Given the description of an element on the screen output the (x, y) to click on. 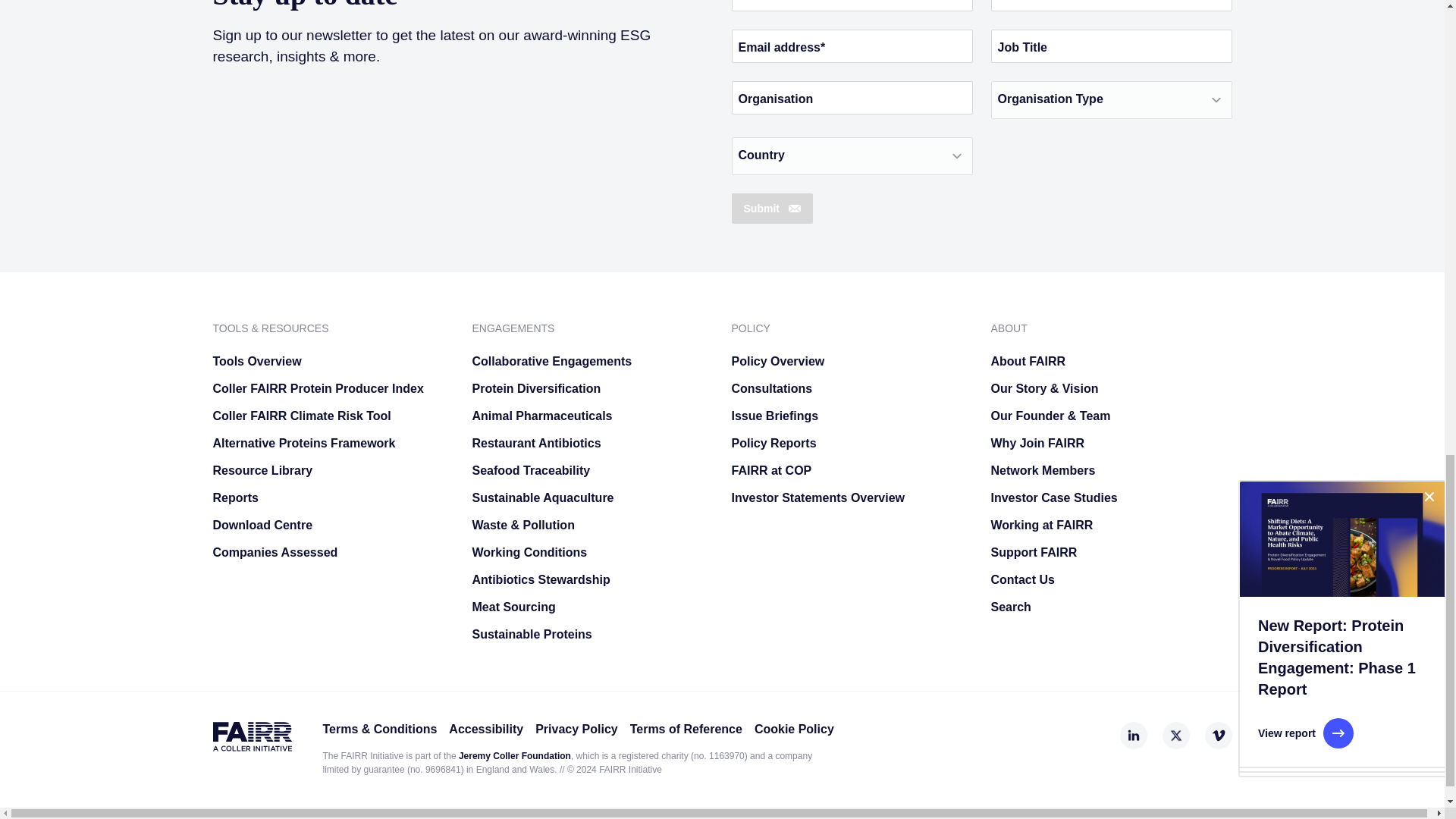
Sustainable Aquaculture (592, 498)
Protein Diversification (592, 388)
Seafood Traceability (592, 470)
Alternative Proteins Framework (332, 443)
Restaurant Antibiotics (592, 443)
Download Centre (332, 525)
Submit (771, 208)
Coller FAIRR Protein Producer Index (332, 388)
Companies Assessed (332, 552)
Animal Pharmaceuticals (592, 416)
Coller FAIRR Climate Risk Tool (332, 416)
Tools Overview (332, 361)
Collaborative Engagements (592, 361)
Resource Library (332, 470)
Reports (332, 498)
